Given the description of an element on the screen output the (x, y) to click on. 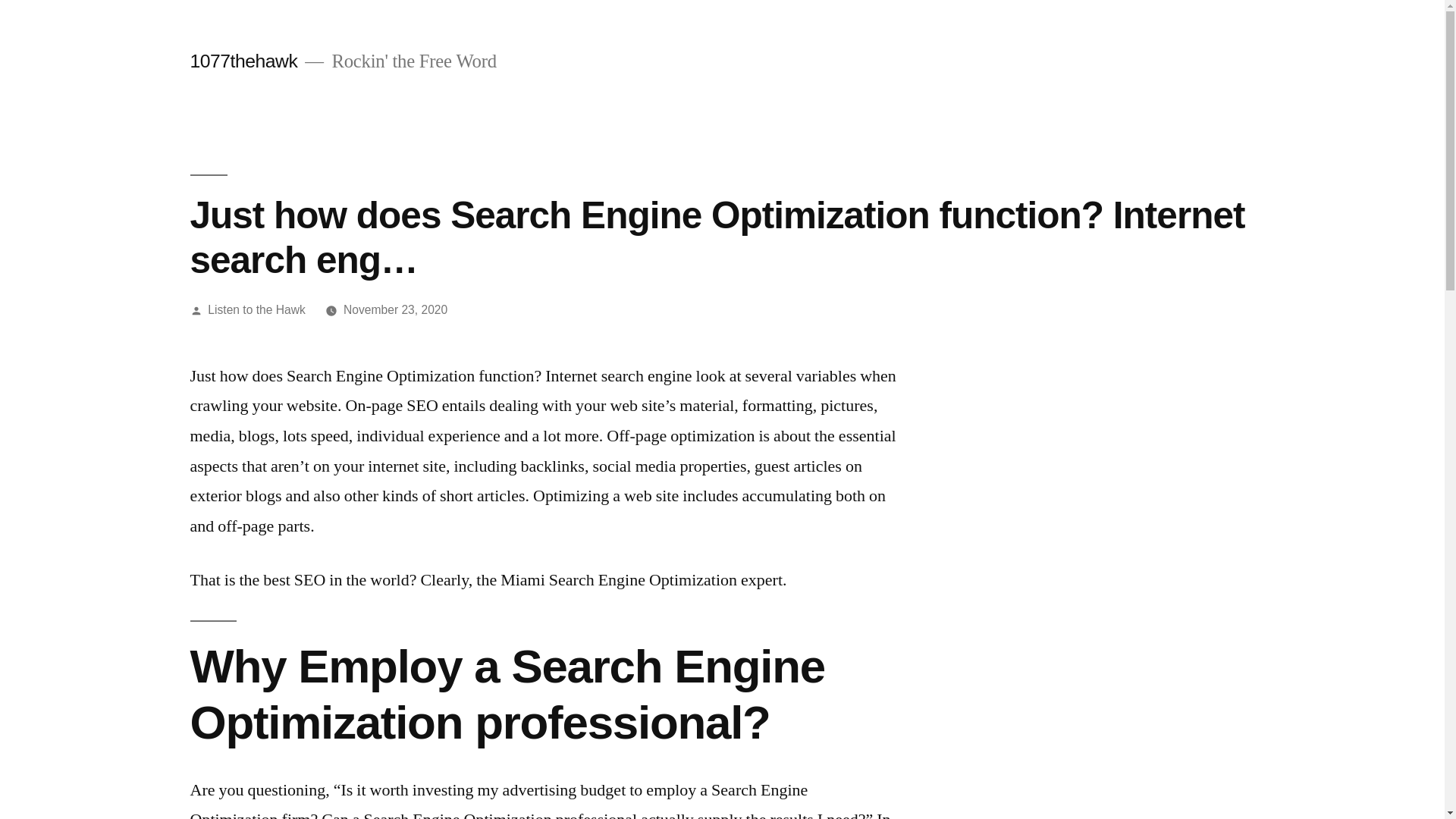
November 23, 2020 Element type: text (395, 309)
Listen to the Hawk Element type: text (256, 309)
1077thehawk Element type: text (243, 60)
